Given the description of an element on the screen output the (x, y) to click on. 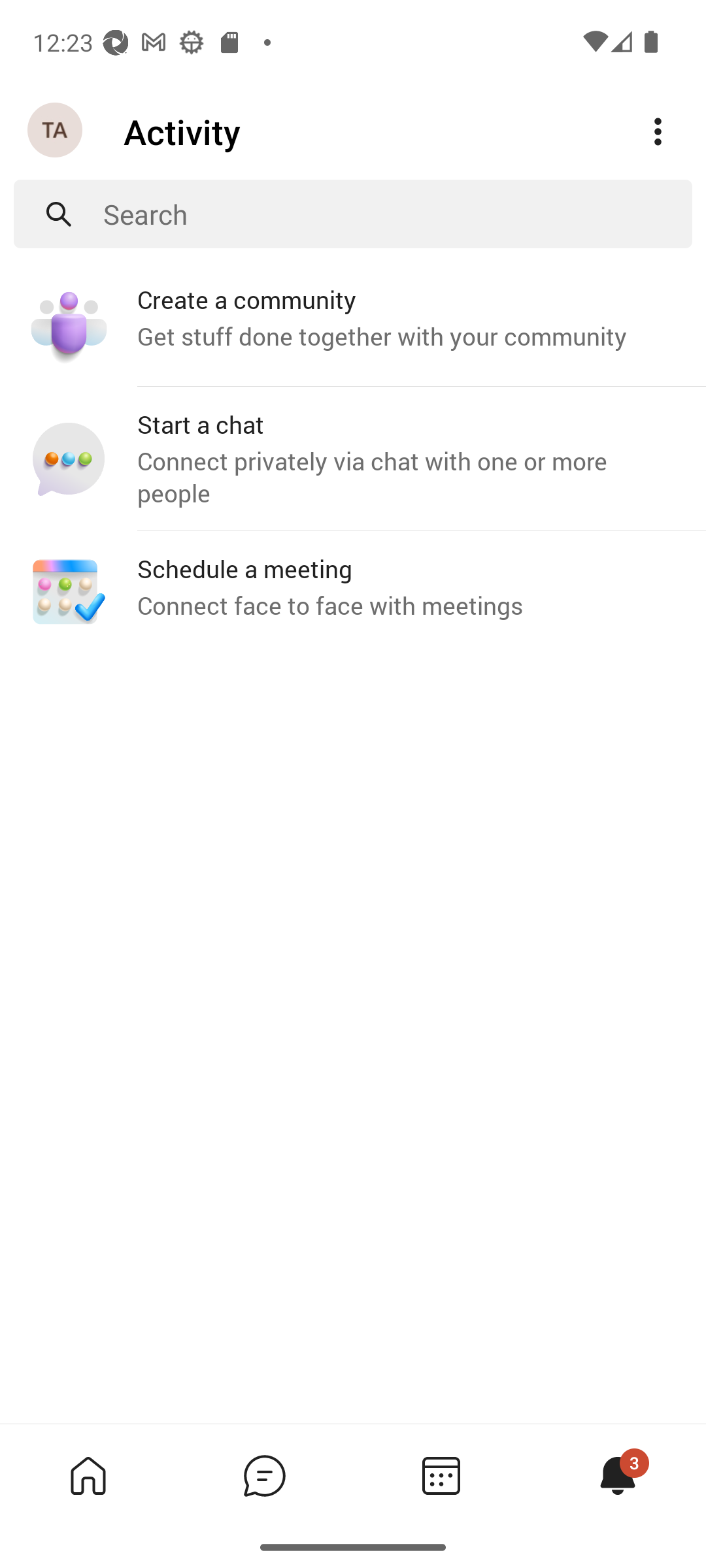
More options (657, 131)
Navigation (56, 130)
Search (397, 213)
Home tab,1 of 4, not selected (88, 1475)
Chat tab,2 of 4, not selected (264, 1475)
Calendar tab,3 of 4, not selected (441, 1475)
Activity tab, 4 of 4, 3 new 3 (617, 1475)
